Given the description of an element on the screen output the (x, y) to click on. 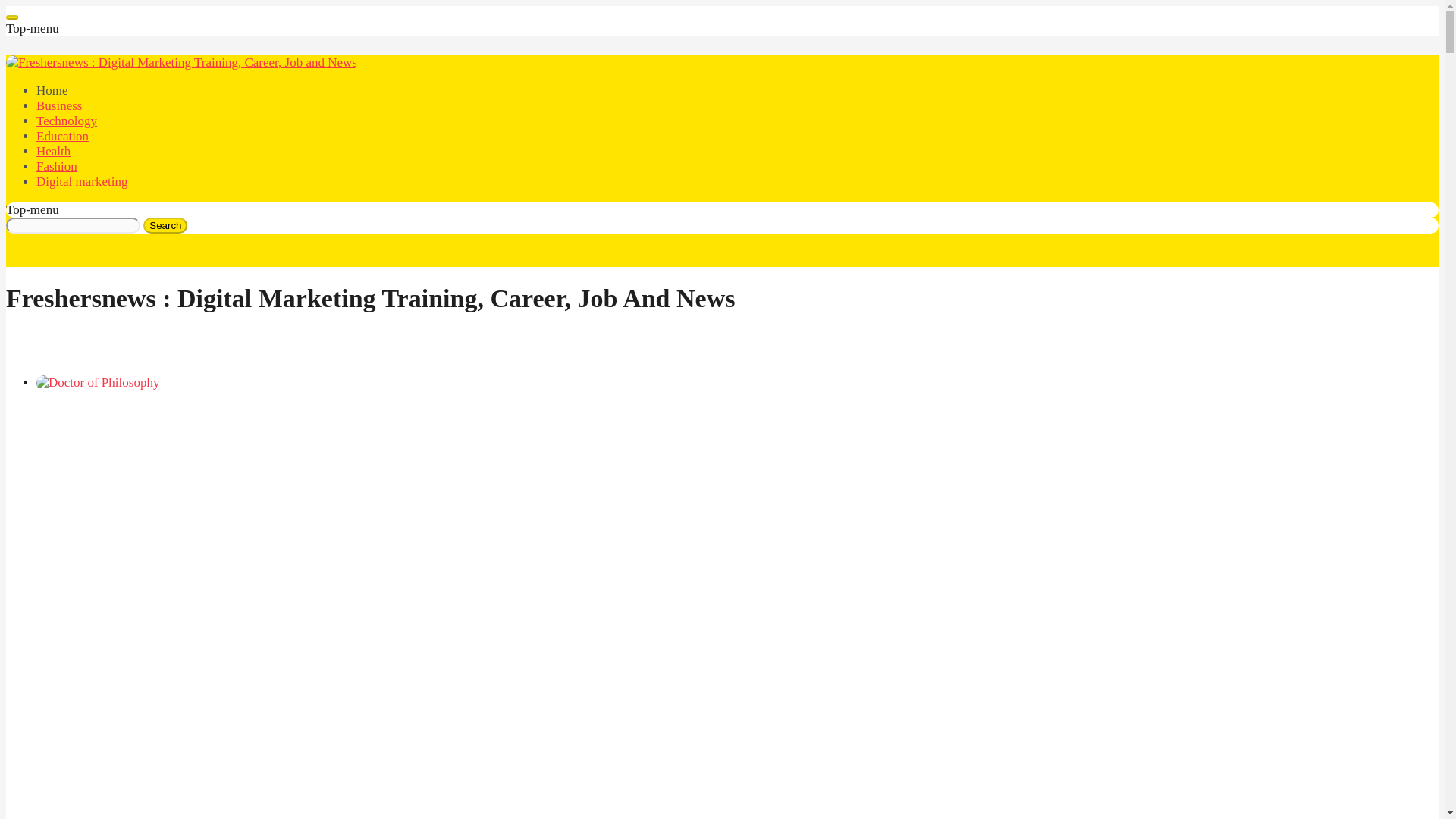
Education (62, 135)
Technology (66, 120)
Business (58, 105)
Fashion (56, 165)
Search (164, 225)
Digital marketing (82, 181)
Home (52, 90)
Health (52, 151)
